Given the description of an element on the screen output the (x, y) to click on. 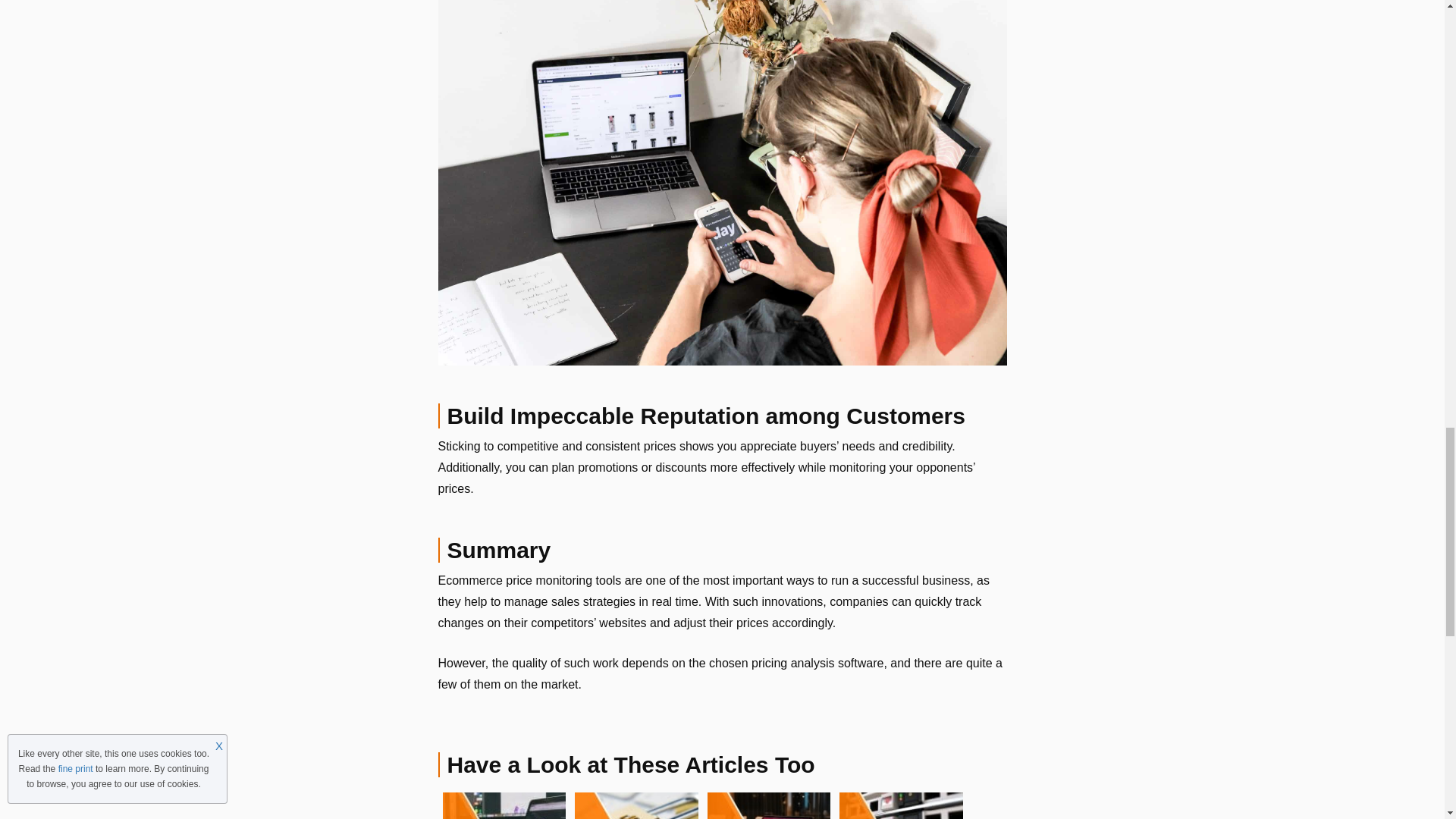
8 Tips to Protect Your WordPress Site Against Cyber Attacks (636, 805)
10 Essential Tips for the Perfect Website (504, 805)
